Given the description of an element on the screen output the (x, y) to click on. 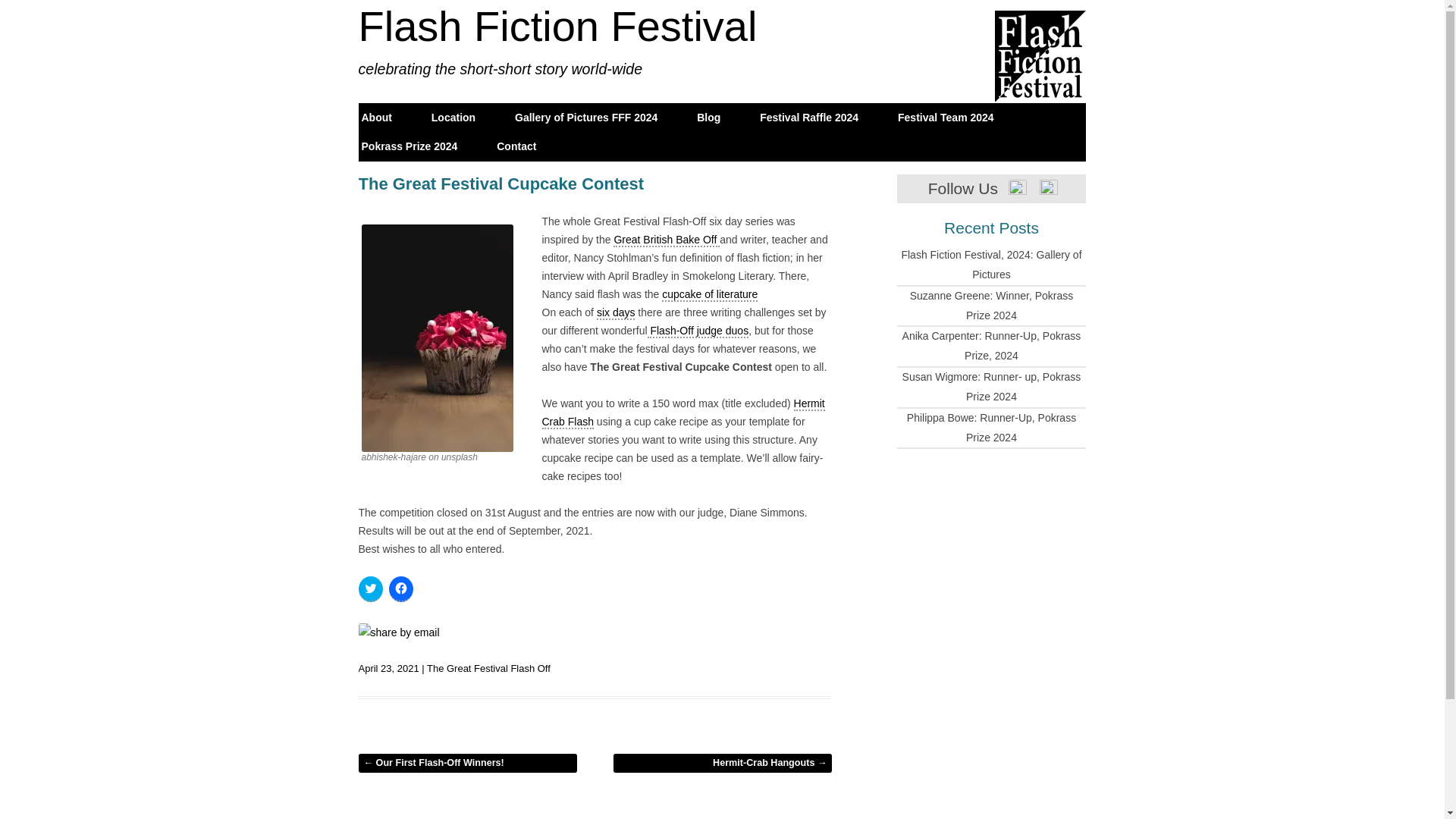
Festival Raffle 2024 (809, 118)
April 23, 2021 (388, 668)
Susan Wigmore: Runner- up, Pokrass Prize 2024 (991, 386)
Pokrass Prize 2024 (409, 146)
Suzanne Greene: Winner, Pokrass Prize 2024 (992, 305)
Festival Team 2024 (946, 118)
six days (615, 313)
Anika Carpenter: Runner-Up, Pokrass Prize, 2024 (991, 345)
